Given the description of an element on the screen output the (x, y) to click on. 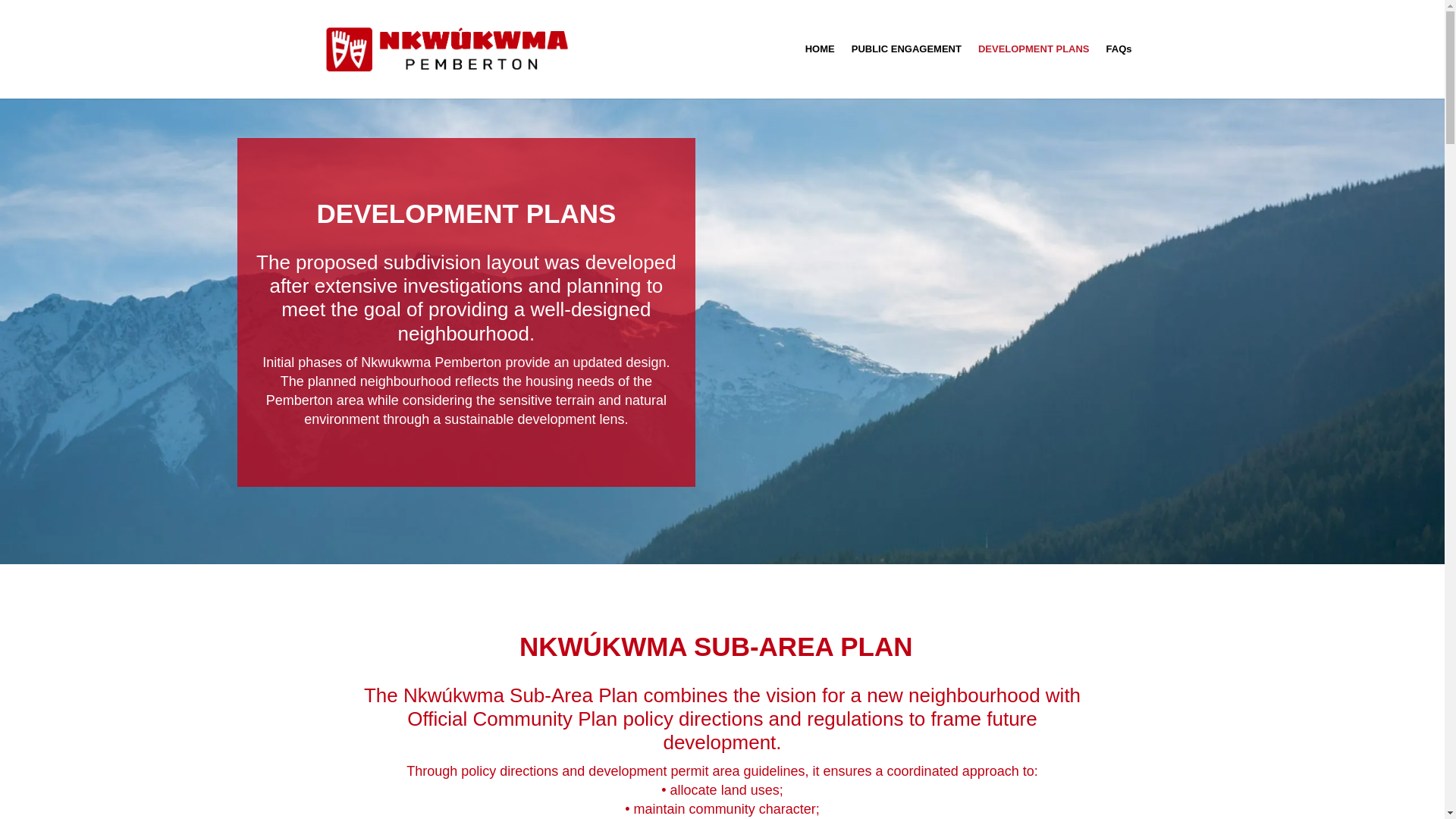
DEVELOPMENT PLANS (1033, 71)
PUBLIC ENGAGEMENT (905, 71)
